Given the description of an element on the screen output the (x, y) to click on. 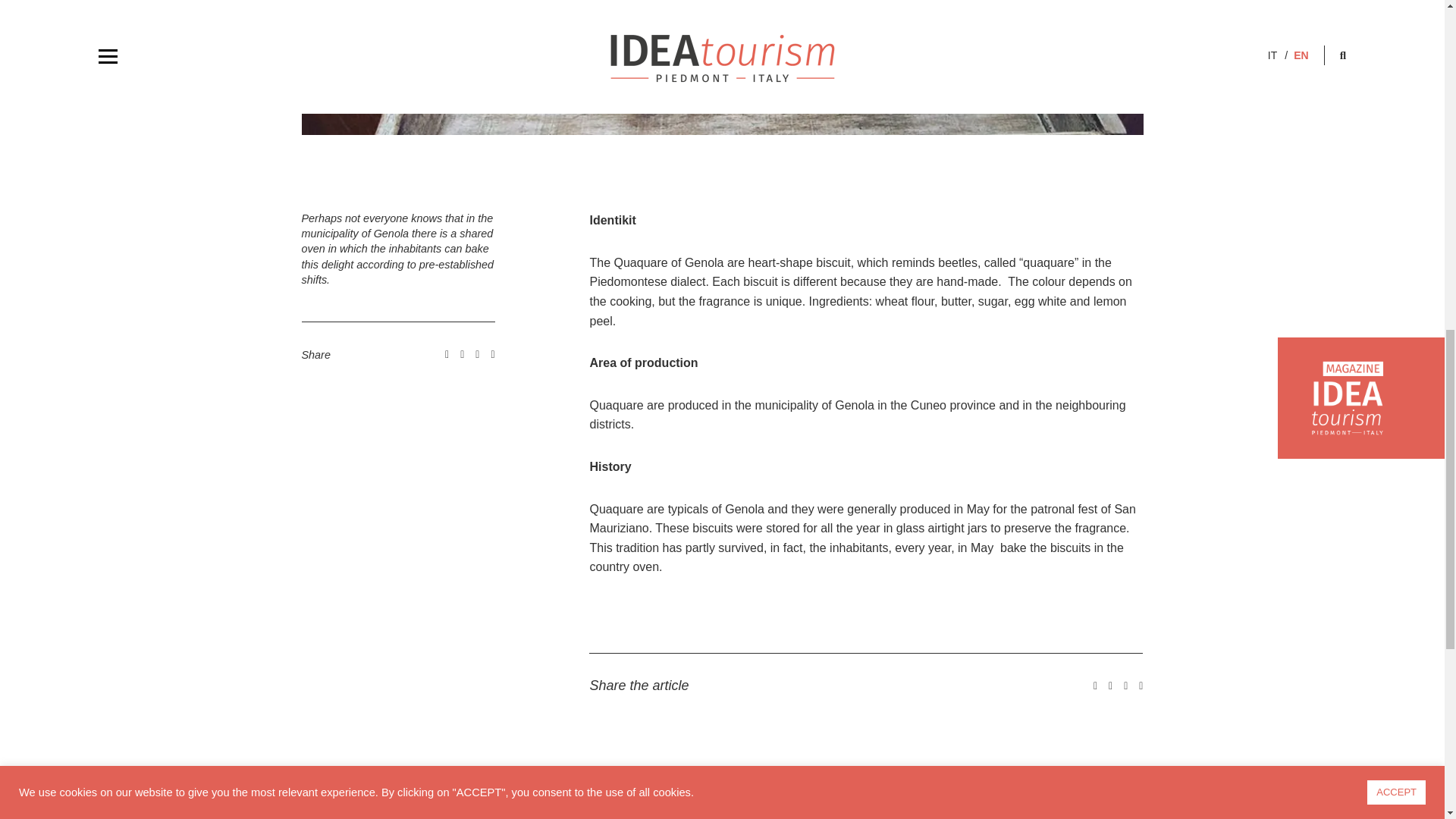
Pinterest Share (1140, 686)
Twitter share (462, 354)
Twitter share (1110, 686)
Facebook share (446, 354)
Facebook share (1095, 686)
Google Plus Share (1125, 686)
Pinterest Share (492, 354)
Google Plus Share (477, 354)
